Given the description of an element on the screen output the (x, y) to click on. 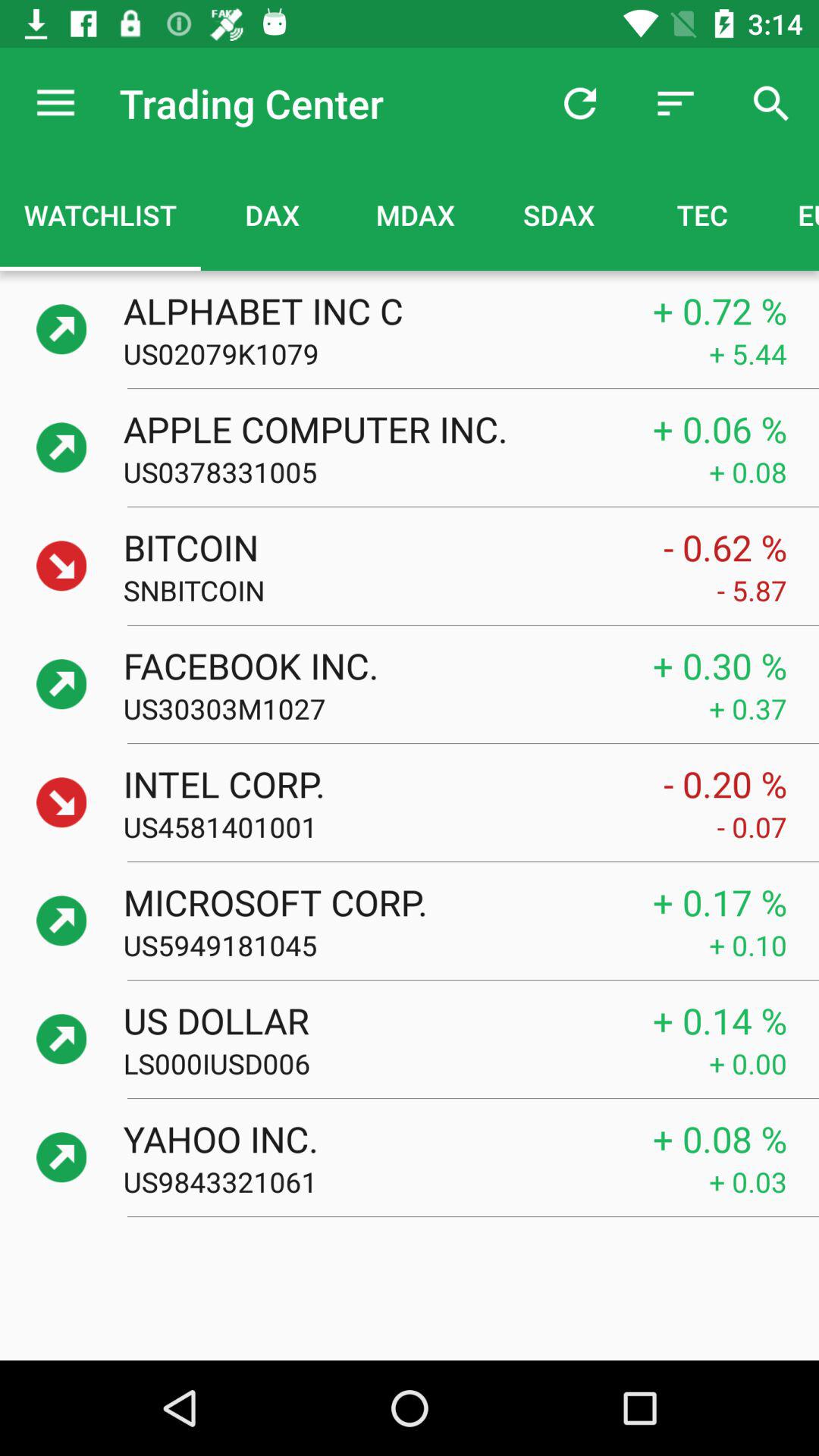
launch item below us02079k1079 icon (372, 428)
